Given the description of an element on the screen output the (x, y) to click on. 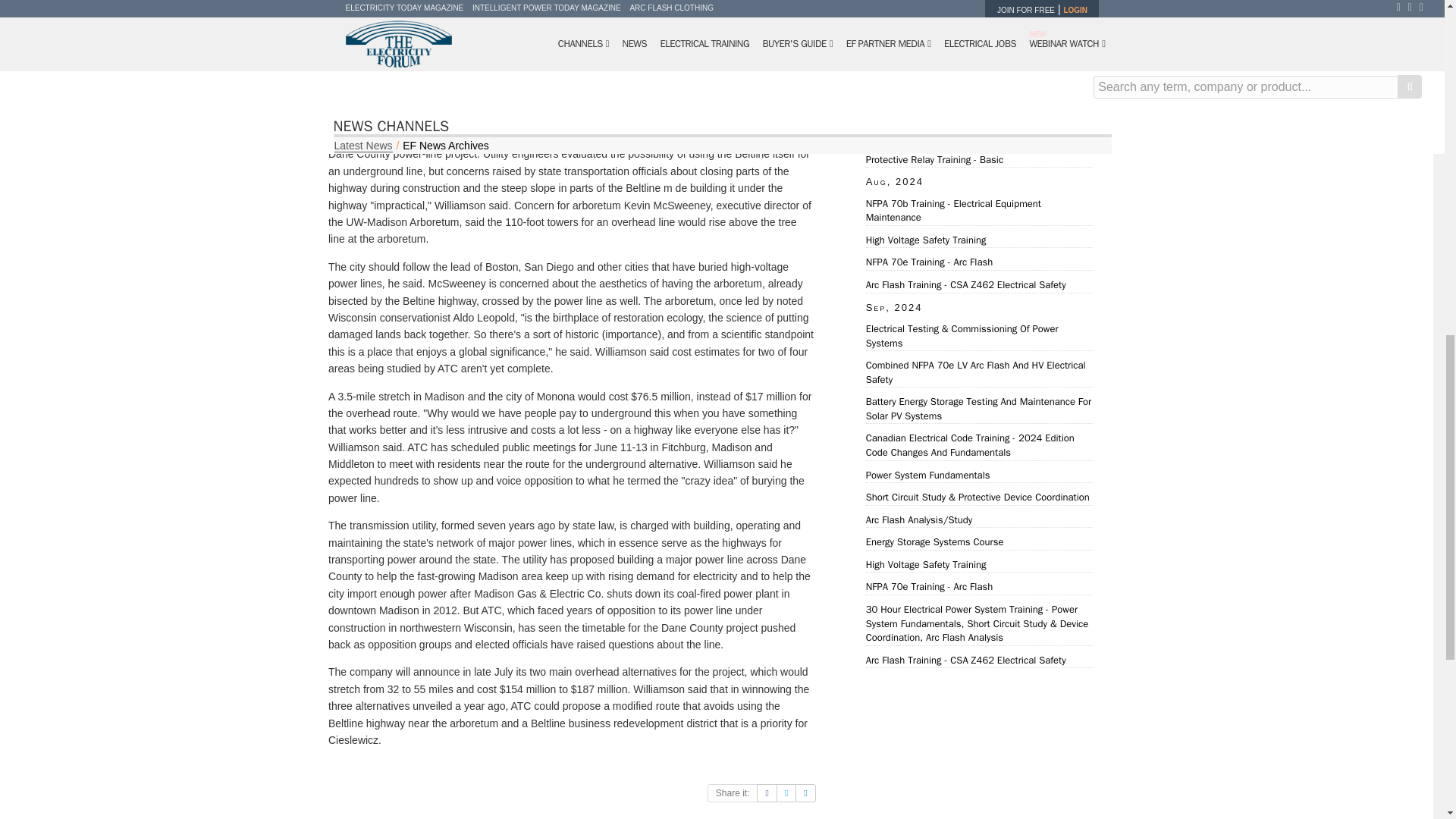
Share it: (732, 792)
On LinkedIn (804, 792)
On Facebook (766, 792)
On Twitter (786, 792)
